Given the description of an element on the screen output the (x, y) to click on. 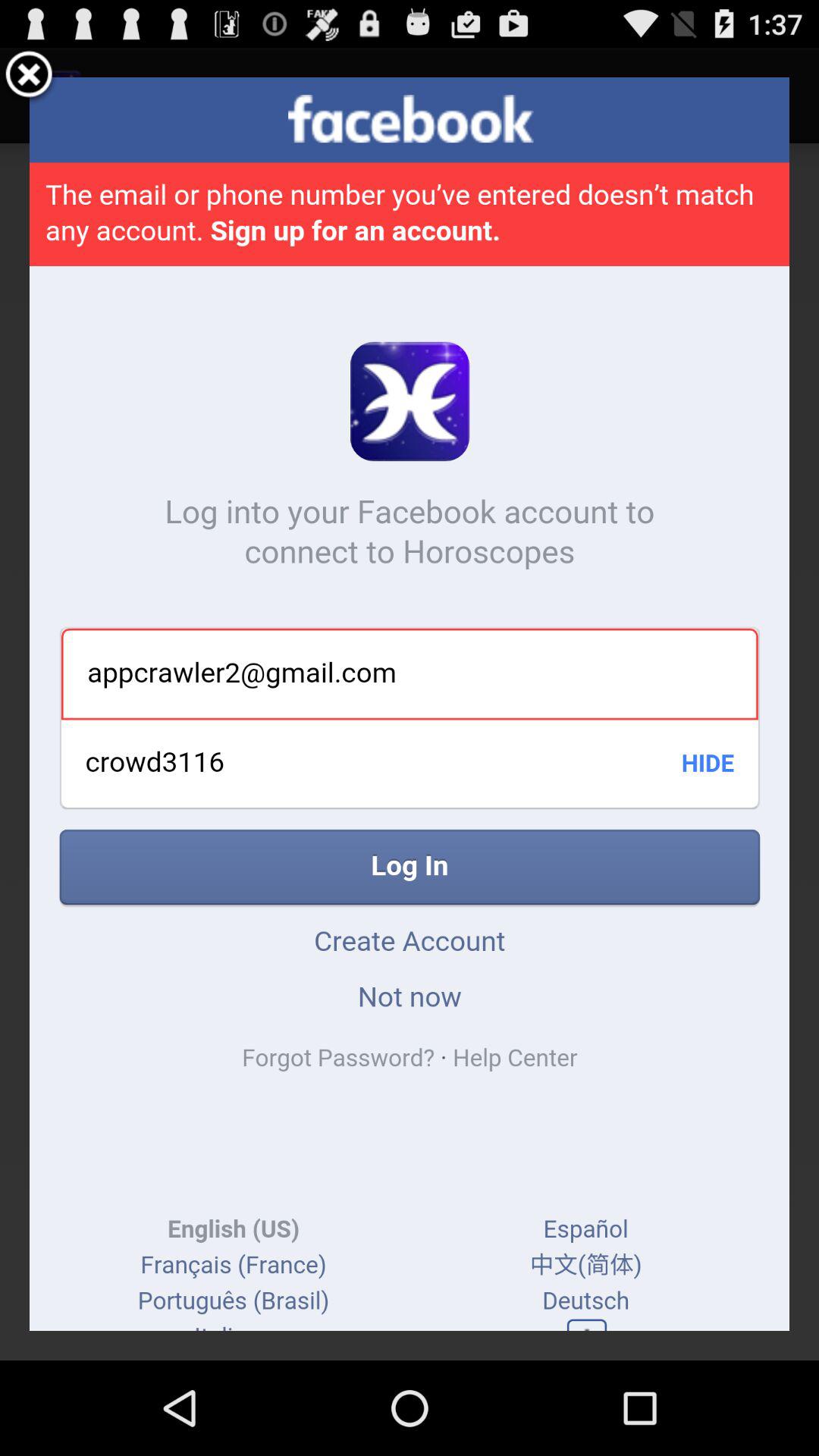
close the popup (29, 76)
